Given the description of an element on the screen output the (x, y) to click on. 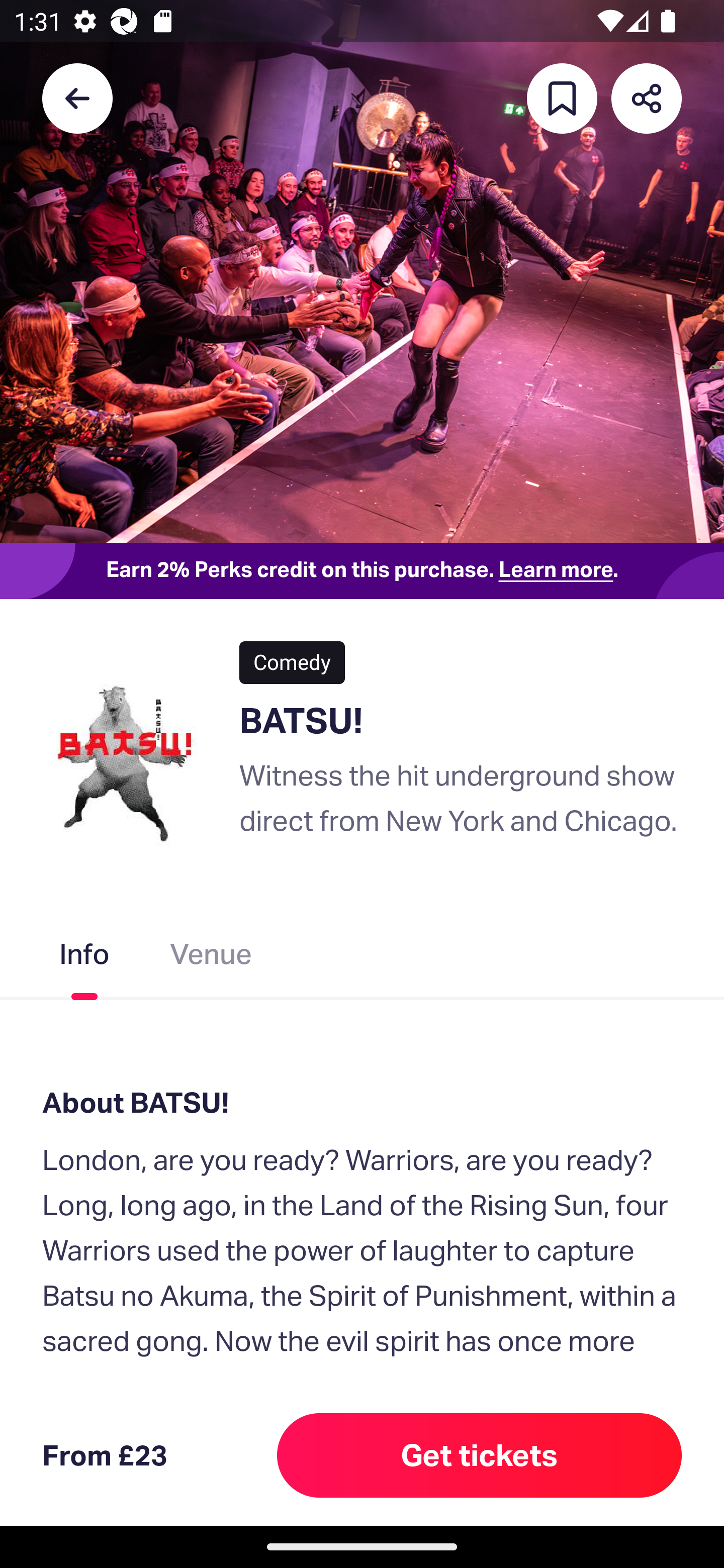
Earn 2% Perks credit on this purchase. Learn more. (362, 570)
Venue (210, 957)
About BATSU! (361, 1103)
Get tickets (479, 1454)
